Given the description of an element on the screen output the (x, y) to click on. 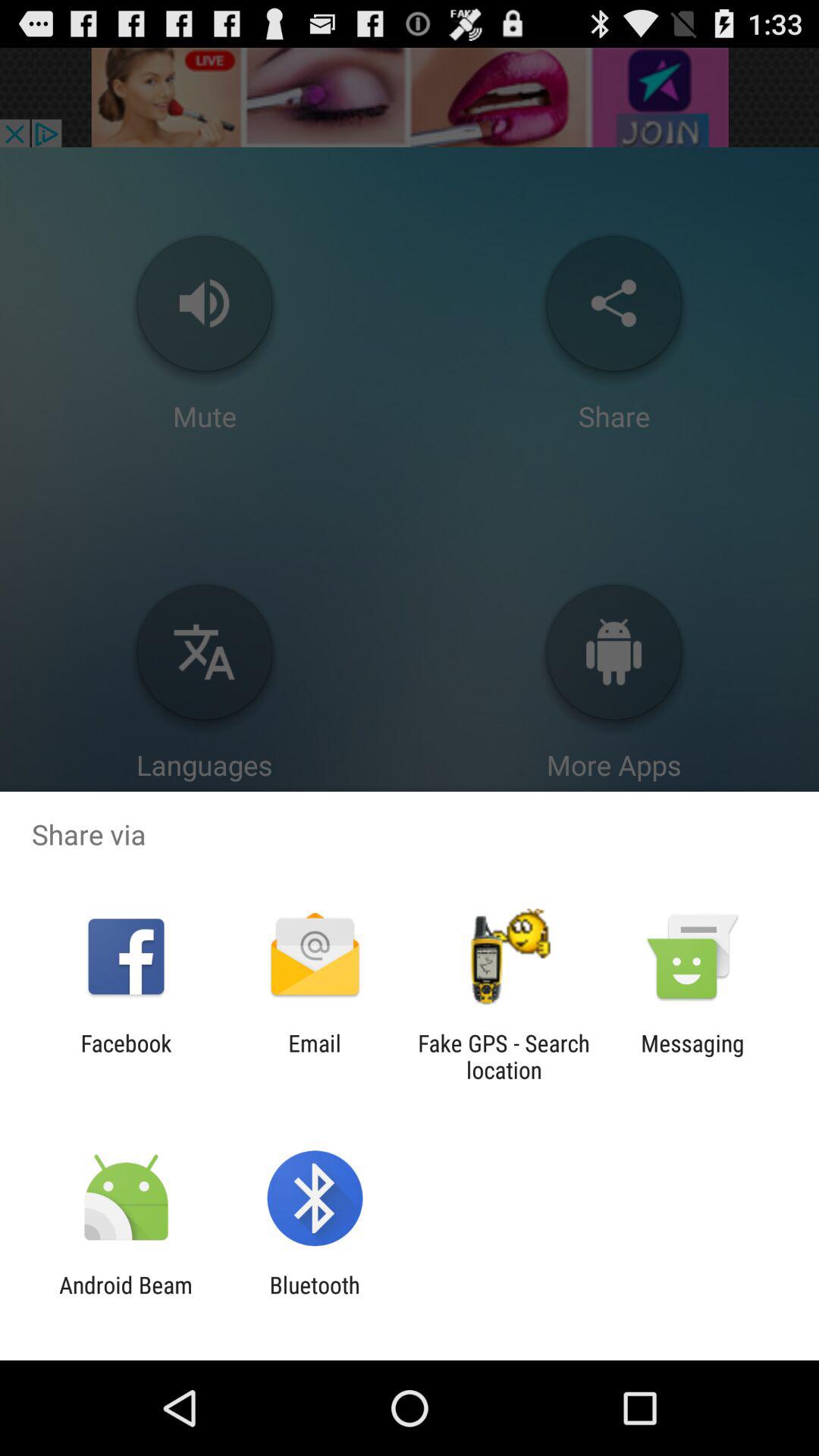
jump until facebook icon (125, 1056)
